Given the description of an element on the screen output the (x, y) to click on. 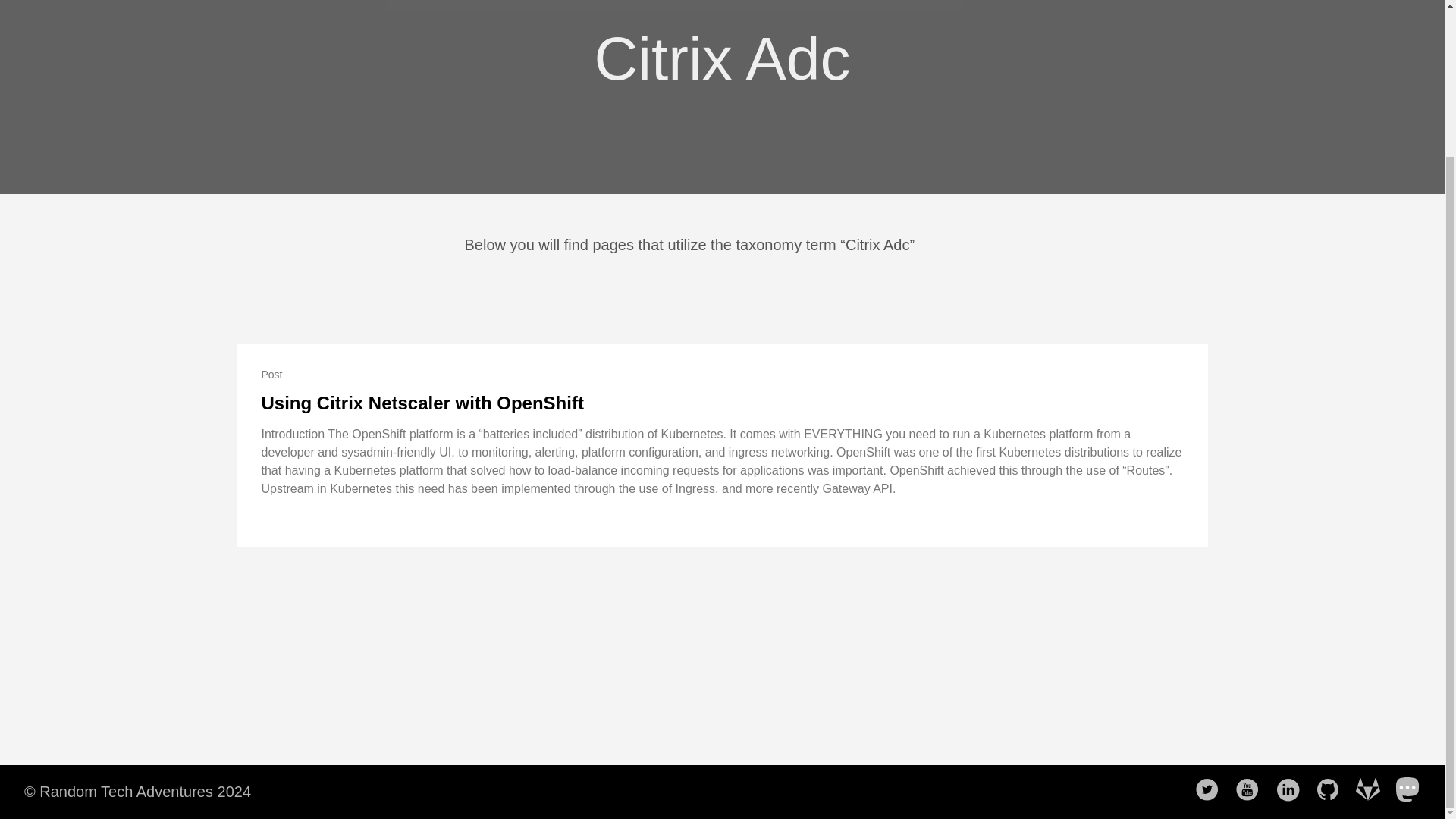
LinkedIn link (1291, 790)
Youtube link (1251, 790)
Gitlab link (1372, 790)
Using Citrix Netscaler with OpenShift (421, 403)
Mastodon link (1412, 790)
Github link (1332, 790)
Twitter link (1211, 790)
